Given the description of an element on the screen output the (x, y) to click on. 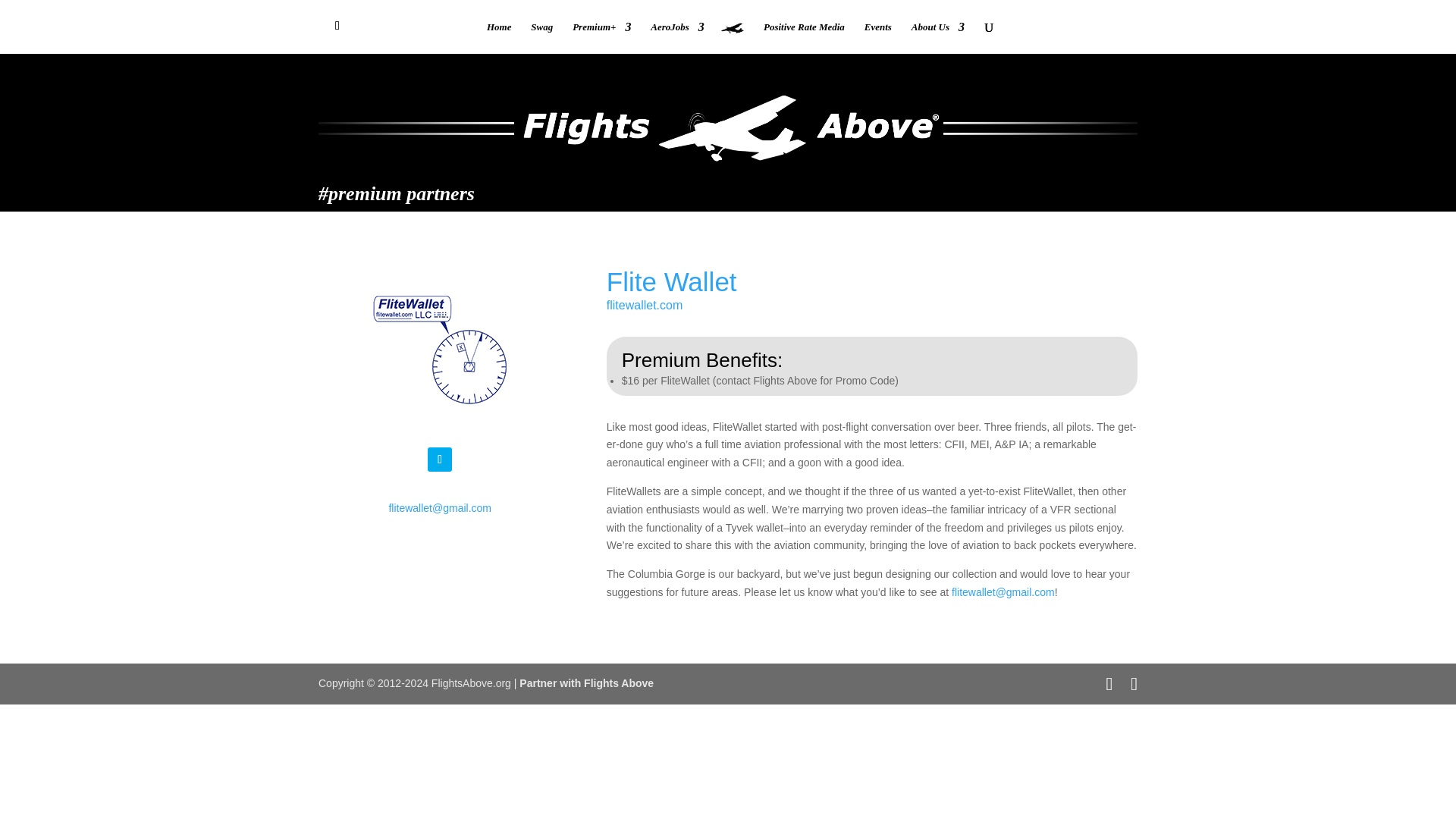
AeroJobs (677, 38)
Follow on Twitter (439, 459)
About Us (937, 38)
Positive Rate Media (803, 38)
